Given the description of an element on the screen output the (x, y) to click on. 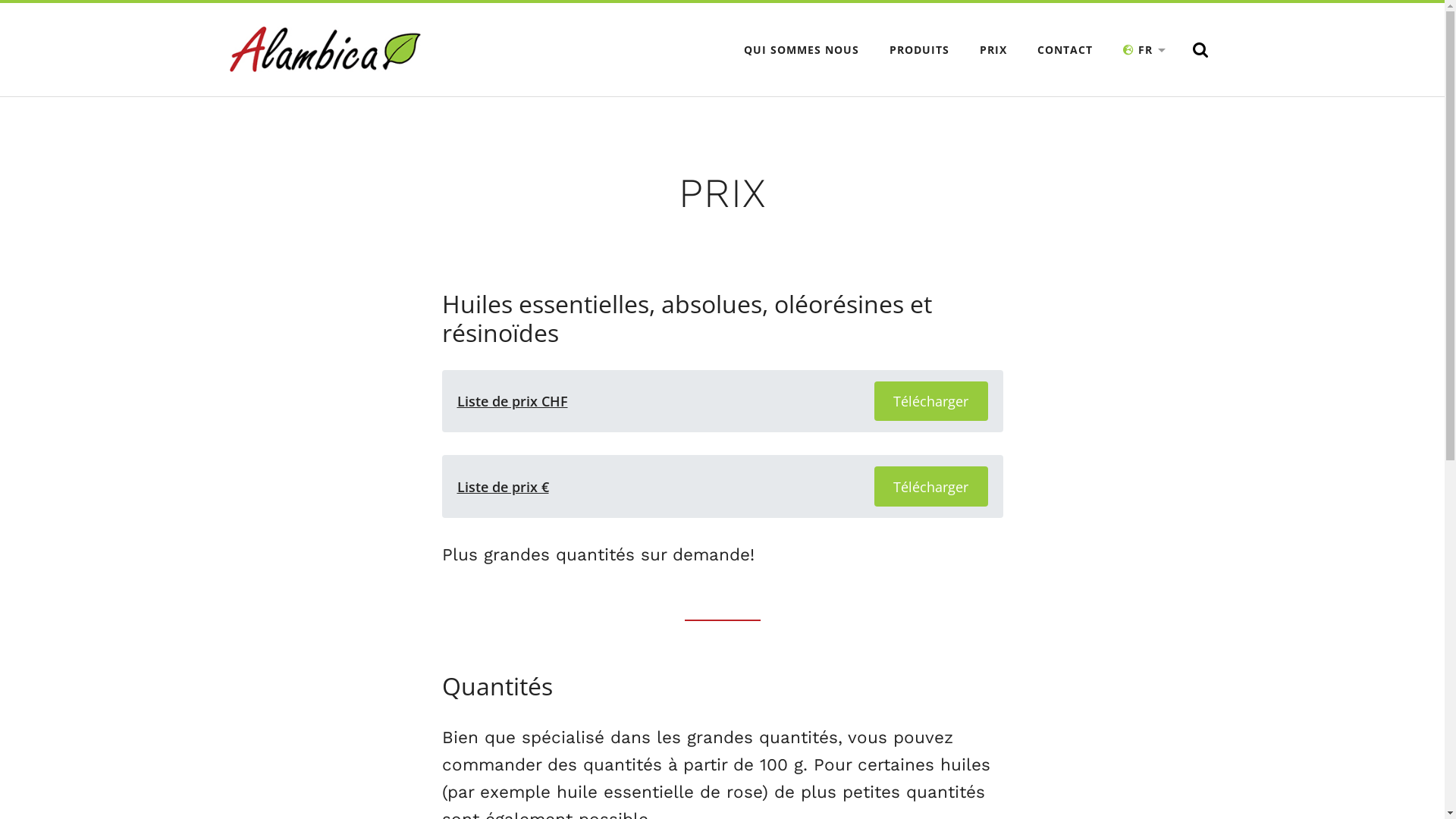
PRIX Element type: text (992, 49)
Montrer le champ de recherche Element type: hover (1199, 49)
PRODUITS Element type: text (919, 49)
QUI SOMMES NOUS Element type: text (801, 49)
FR Element type: text (1144, 49)
Liste de prix CHF Element type: text (511, 401)
CONTACT Element type: text (1064, 49)
